Given the description of an element on the screen output the (x, y) to click on. 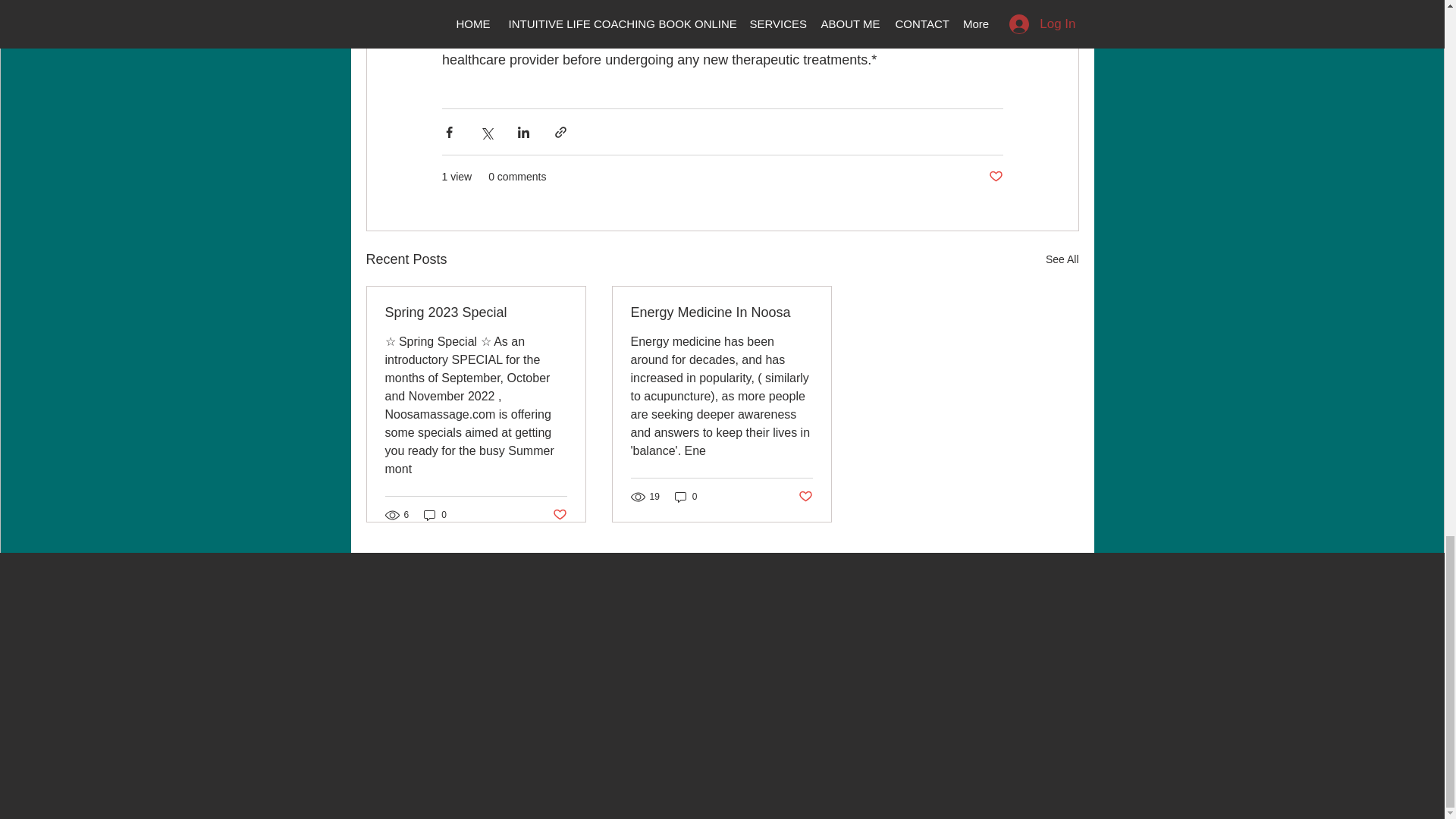
Post not marked as liked (995, 176)
Energy Medicine In Noosa (721, 312)
0 (435, 514)
Post not marked as liked (804, 496)
See All (1061, 259)
0 (685, 496)
Spring 2023 Special (476, 312)
Post not marked as liked (558, 514)
